Given the description of an element on the screen output the (x, y) to click on. 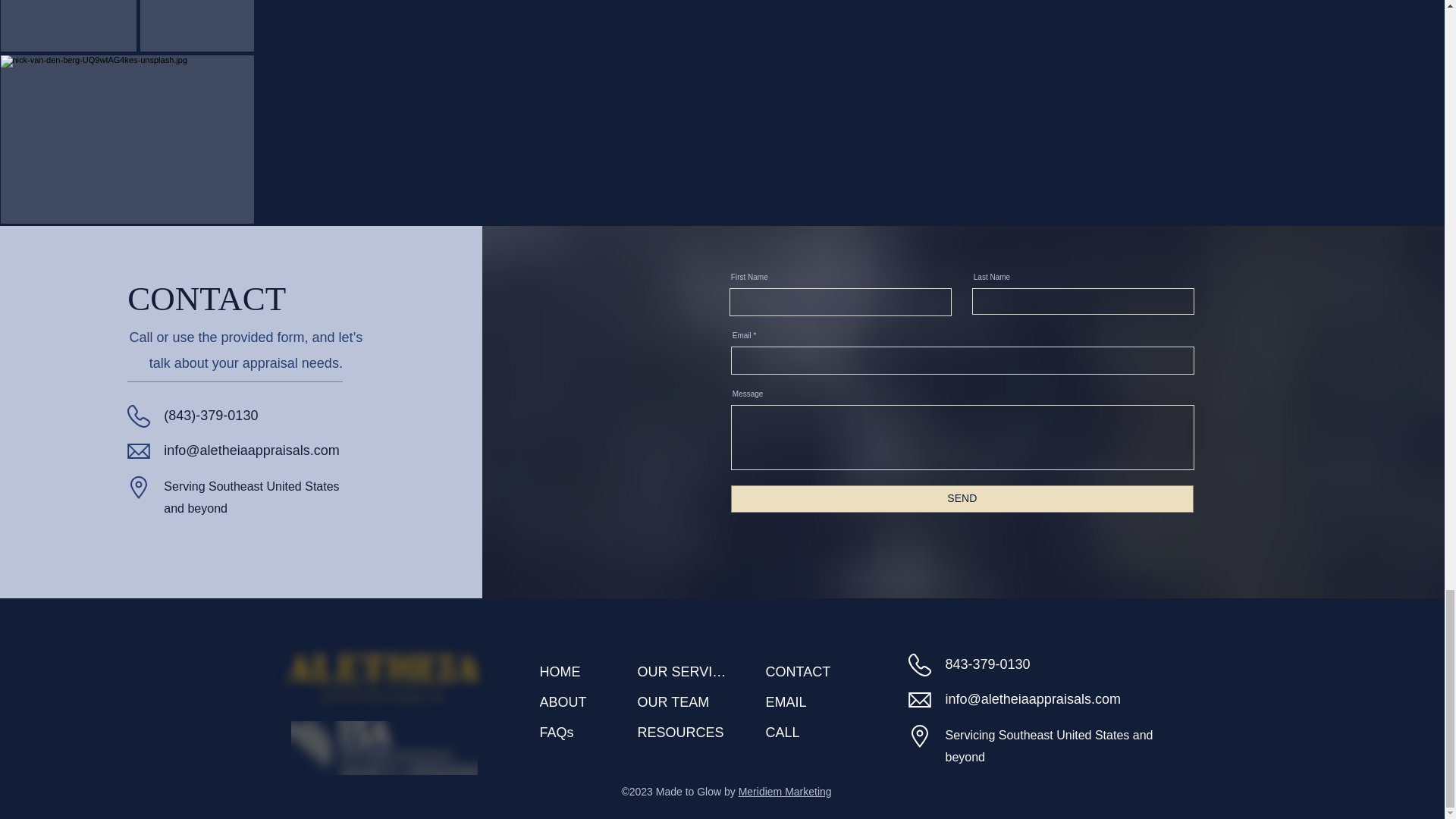
CONTACT (829, 671)
HOME (572, 671)
FAQs (572, 732)
OUR SERVICES (685, 671)
SEND (961, 498)
ABOUT (572, 702)
